Given the description of an element on the screen output the (x, y) to click on. 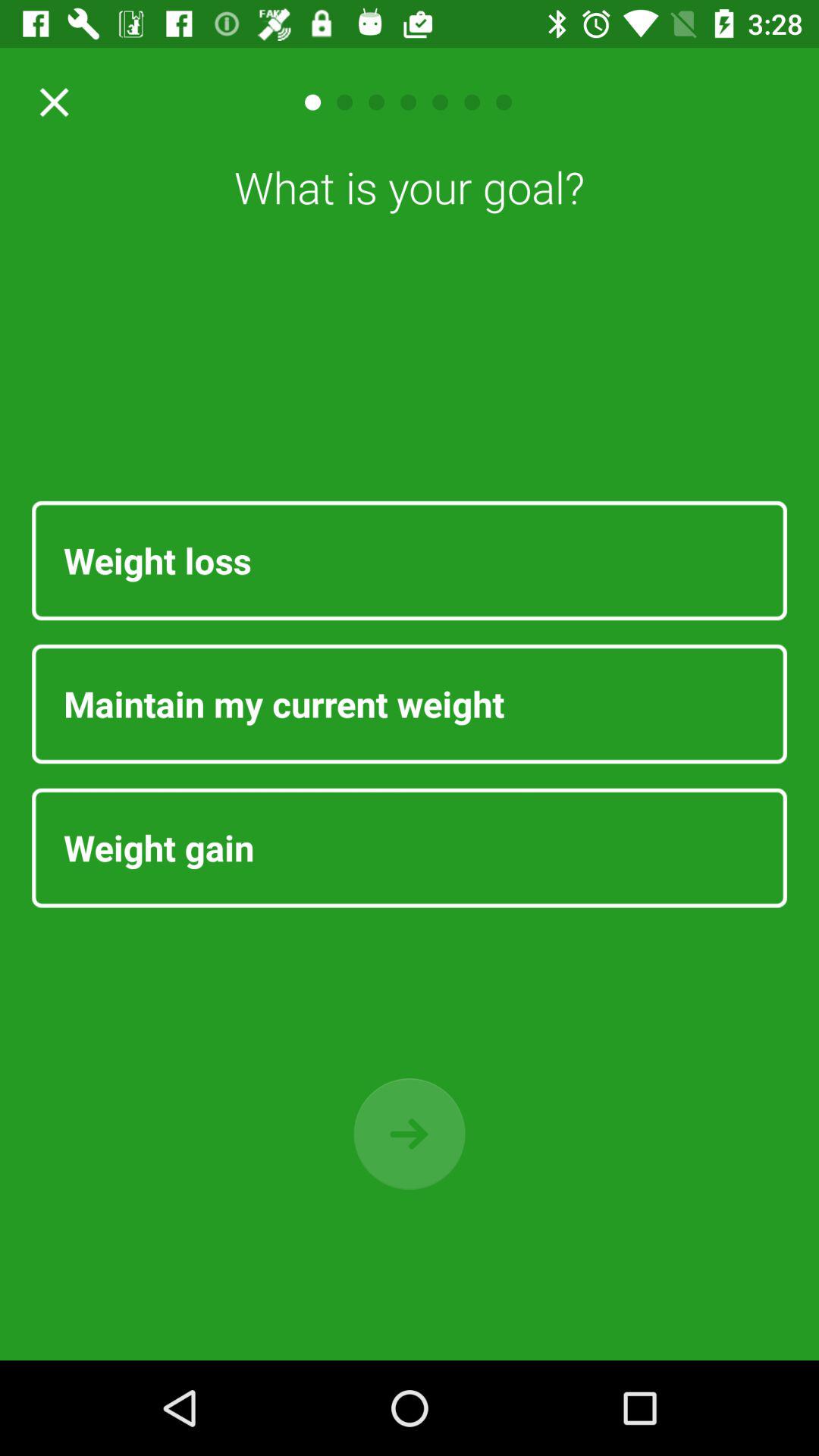
go next (409, 1133)
